Given the description of an element on the screen output the (x, y) to click on. 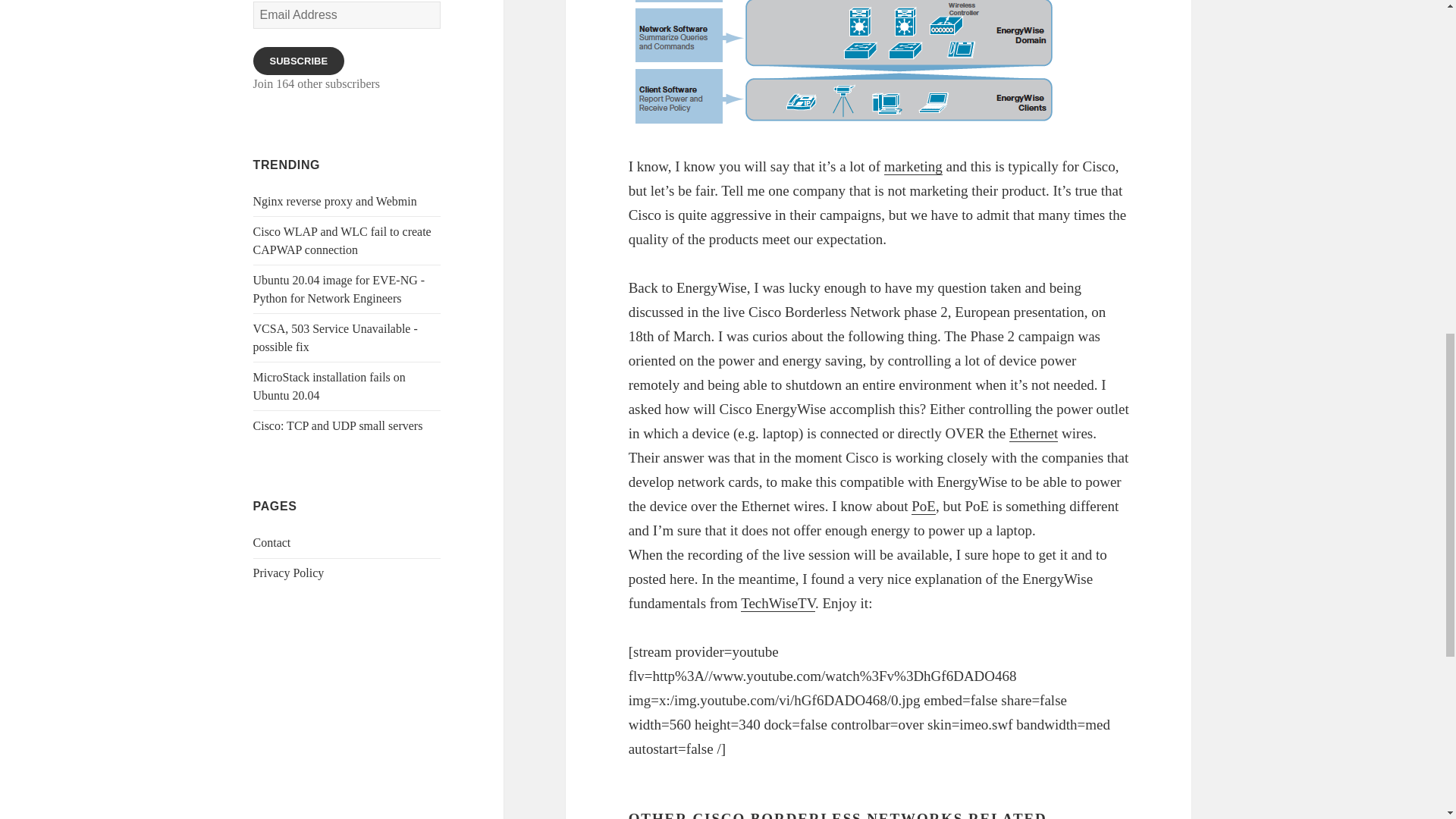
Privacy Policy (288, 572)
Marketing (912, 166)
Power over Ethernet (923, 506)
SUBSCRIBE (299, 60)
MicroStack installation fails on Ubuntu 20.04 (329, 386)
TechWiseTV (778, 603)
Ethernet (1033, 433)
Cisco: TCP and UDP small servers (338, 425)
Ubuntu 20.04 image for EVE-NG - Python for Network Engineers (339, 288)
PoE (923, 506)
